Given the description of an element on the screen output the (x, y) to click on. 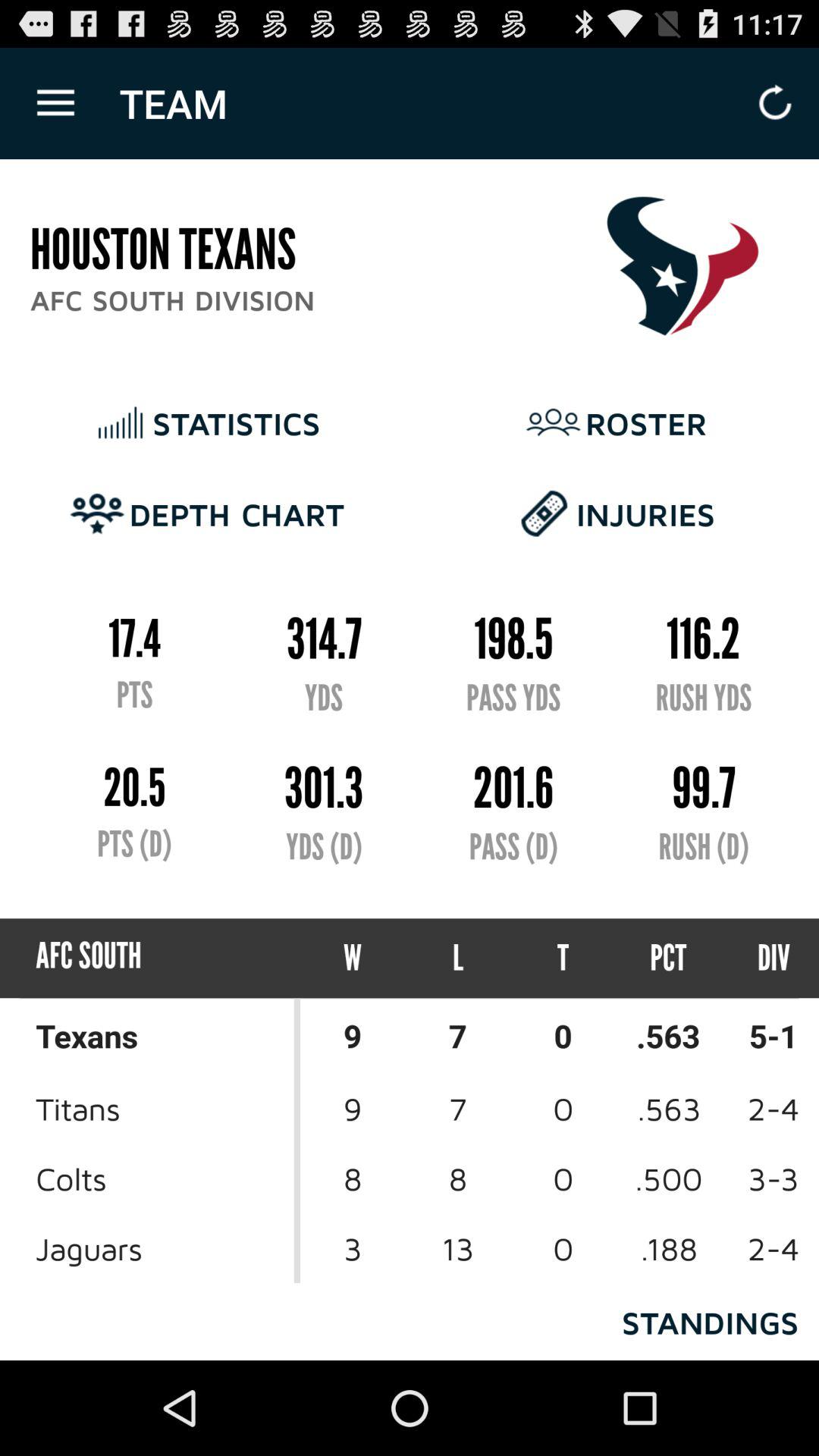
tap app to the left of the team item (55, 103)
